Given the description of an element on the screen output the (x, y) to click on. 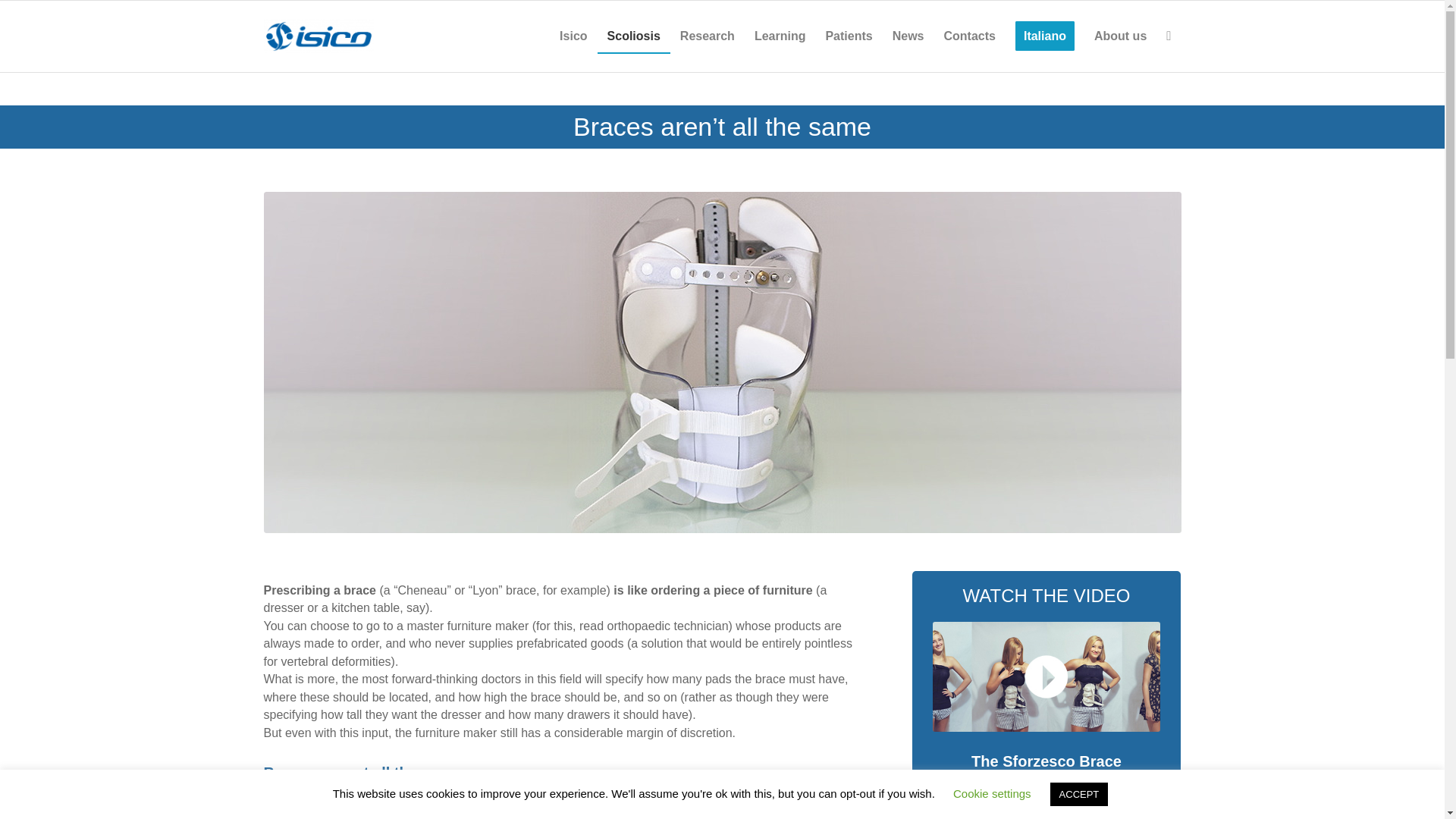
brace-videothumb (1046, 676)
Patients (848, 36)
Isico (573, 36)
Scoliosis (632, 36)
Research (706, 36)
Learning (779, 36)
